Given the description of an element on the screen output the (x, y) to click on. 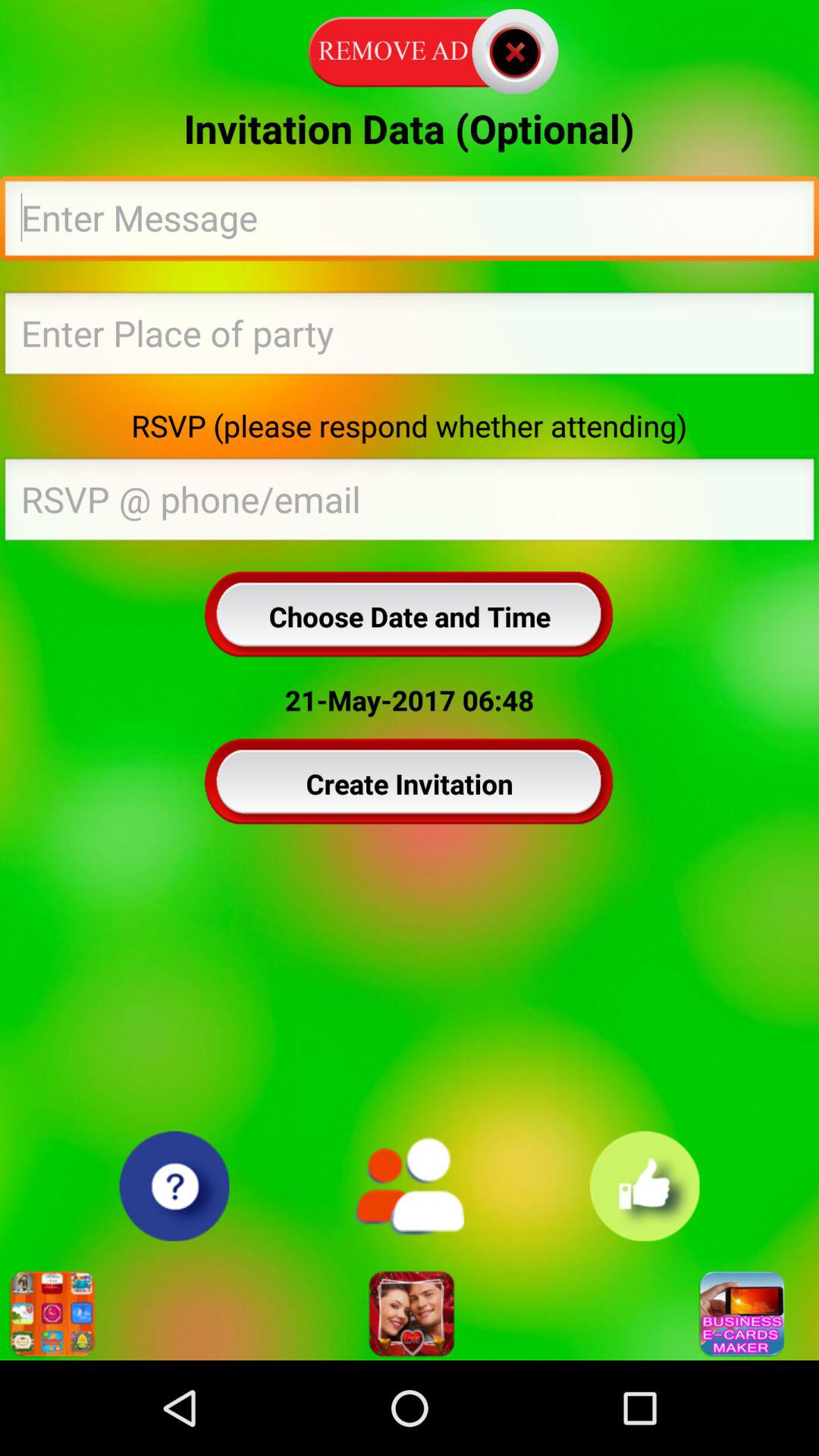
click item below the invitation data (optional) app (409, 222)
